Given the description of an element on the screen output the (x, y) to click on. 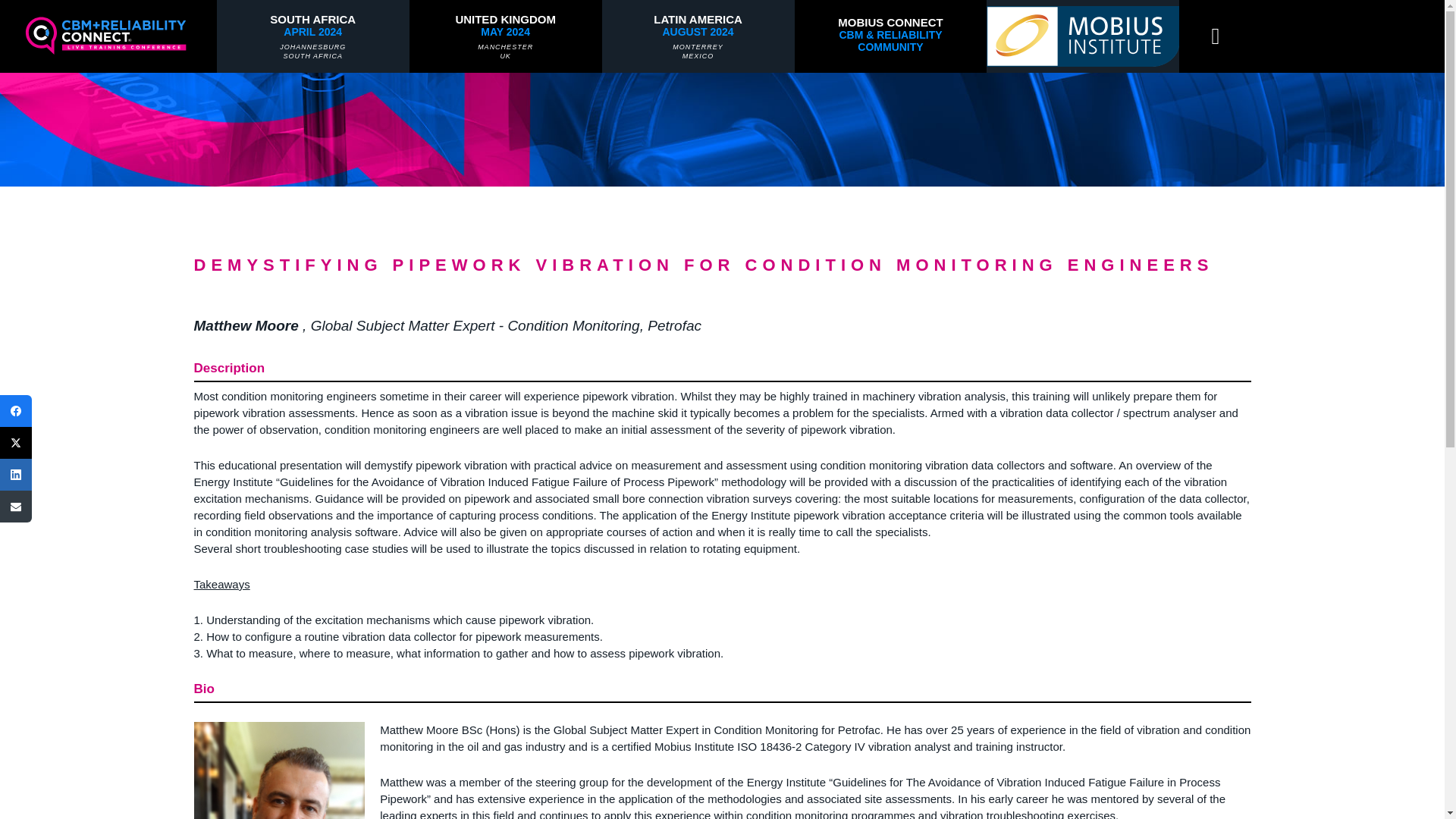
MENU ITEM (698, 36)
